Given the description of an element on the screen output the (x, y) to click on. 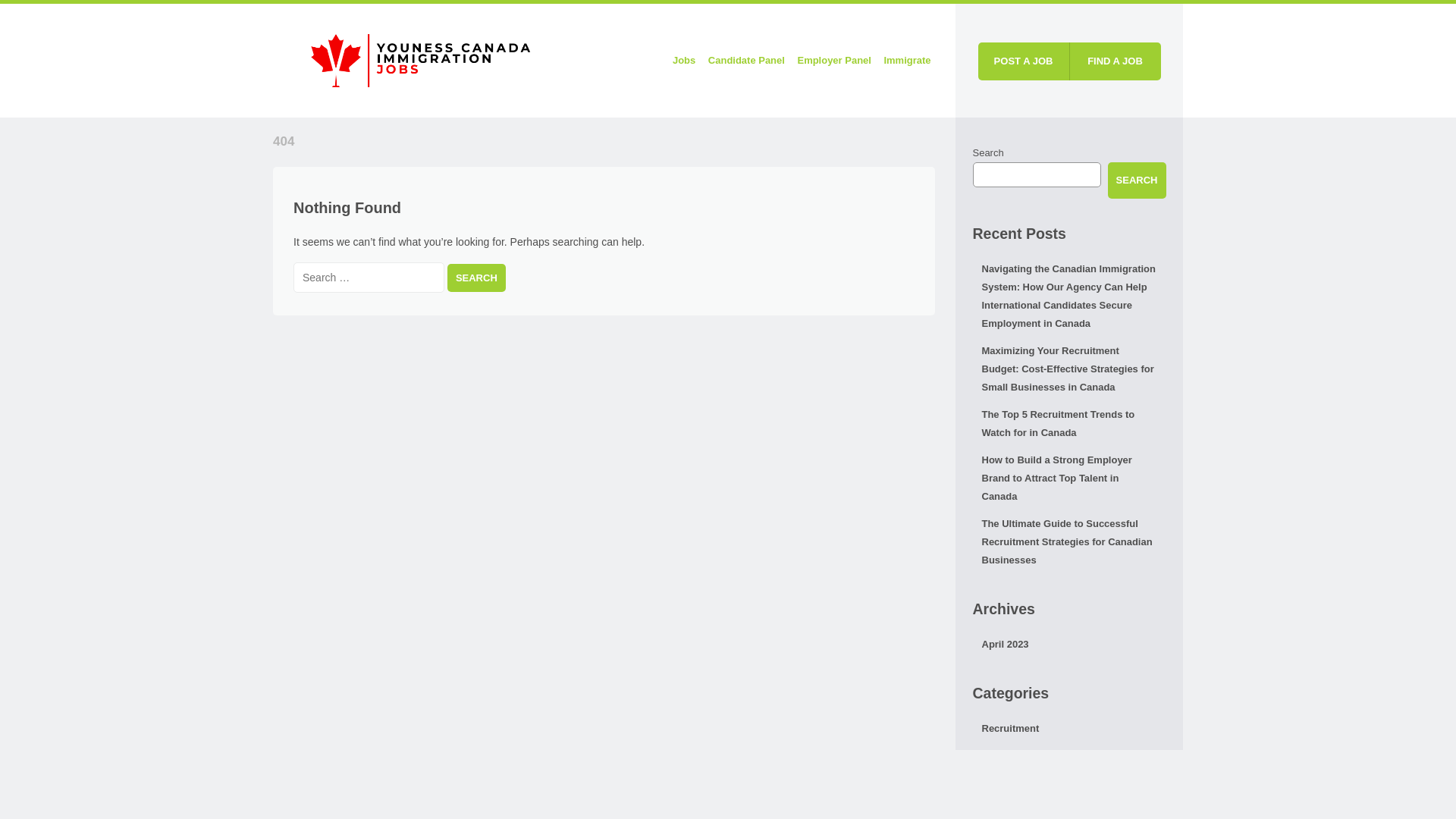
Jobs (683, 60)
The Top 5 Recruitment Trends to Watch for in Canada (1069, 423)
Skip to content (635, 60)
Search (475, 277)
Immigrate (907, 60)
POST A JOB (1023, 61)
Employer Panel (834, 60)
SEARCH (1137, 180)
